Given the description of an element on the screen output the (x, y) to click on. 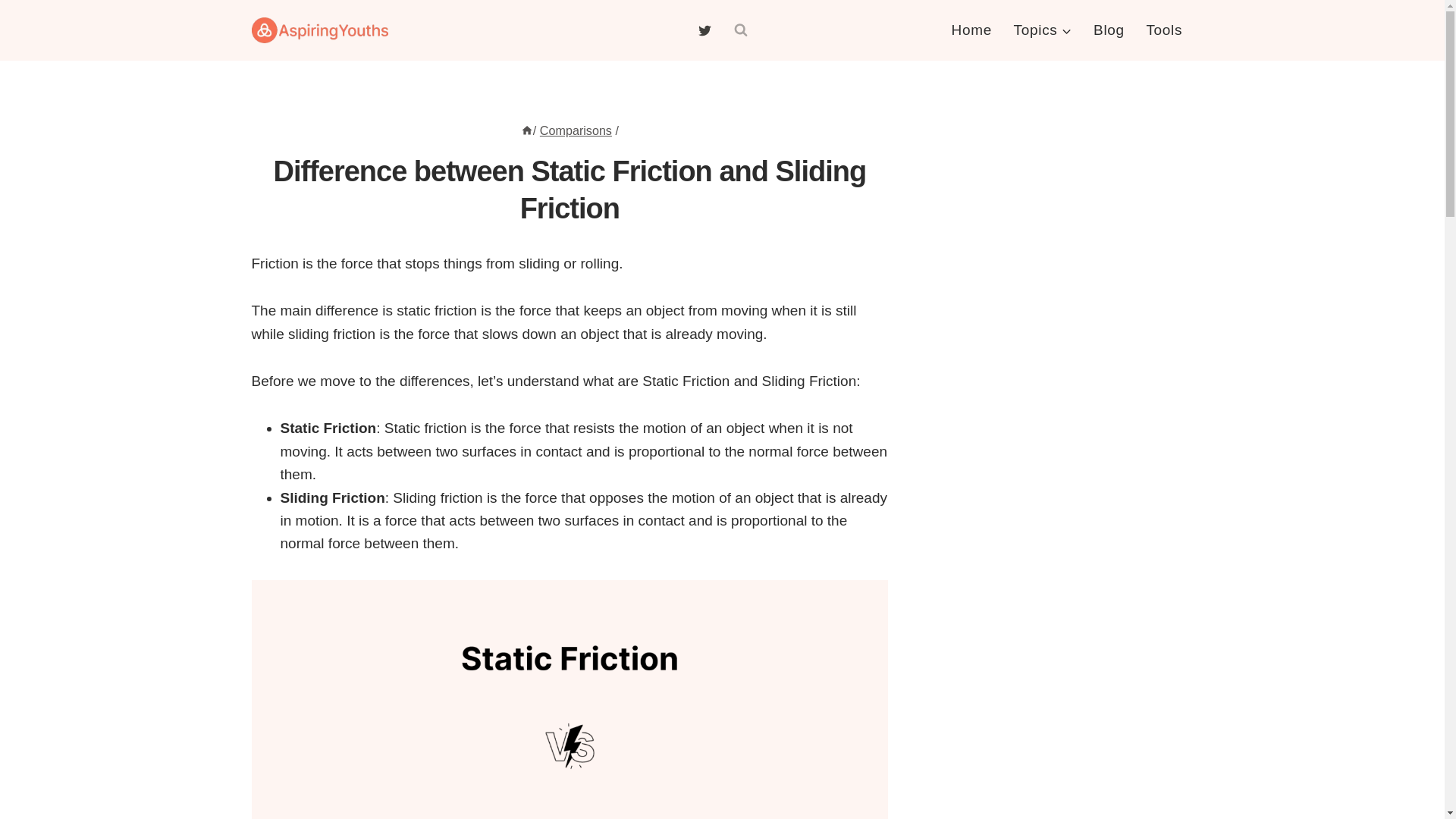
Blog (1109, 30)
Tools (1163, 30)
Home (526, 130)
Topics (1043, 30)
Home (971, 30)
Comparisons (575, 130)
